Given the description of an element on the screen output the (x, y) to click on. 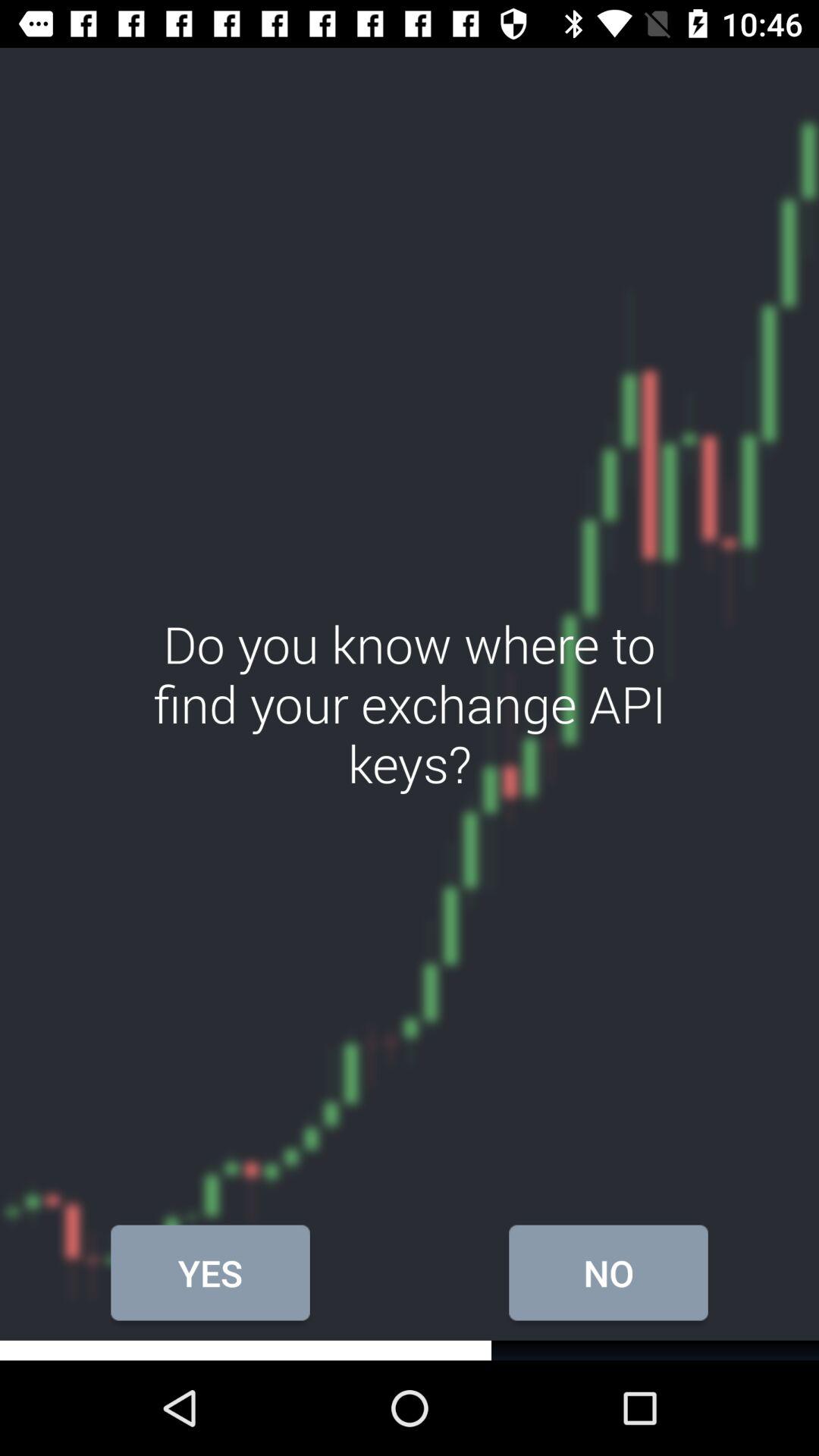
open item below the do you know icon (209, 1272)
